Given the description of an element on the screen output the (x, y) to click on. 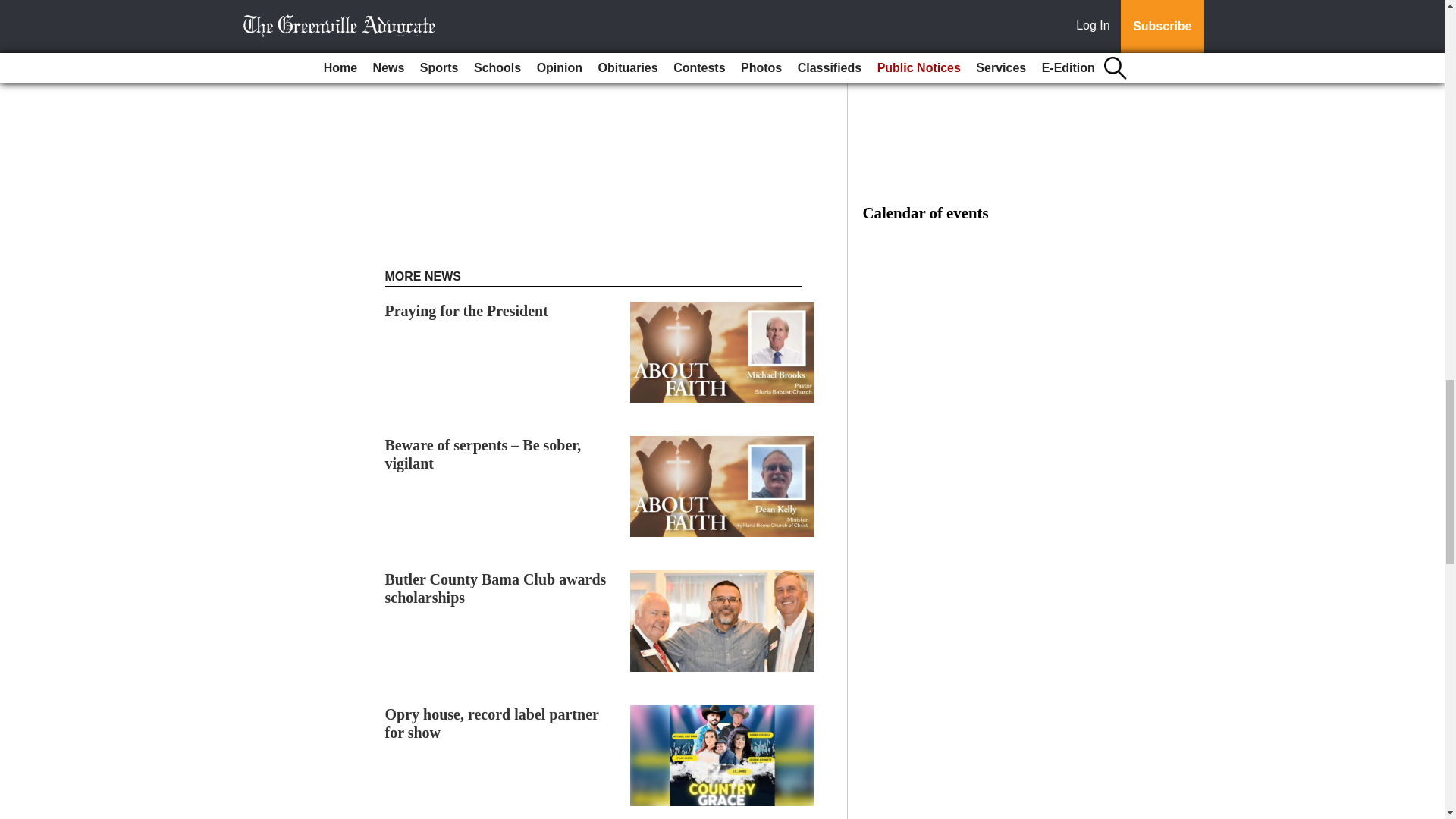
Butler County Bama Club awards scholarships (496, 588)
Opry house, record label partner for show (491, 723)
Praying for the President (466, 310)
Opry house, record label partner for show (491, 723)
Praying for the President (466, 310)
Butler County Bama Club awards scholarships (496, 588)
